Given the description of an element on the screen output the (x, y) to click on. 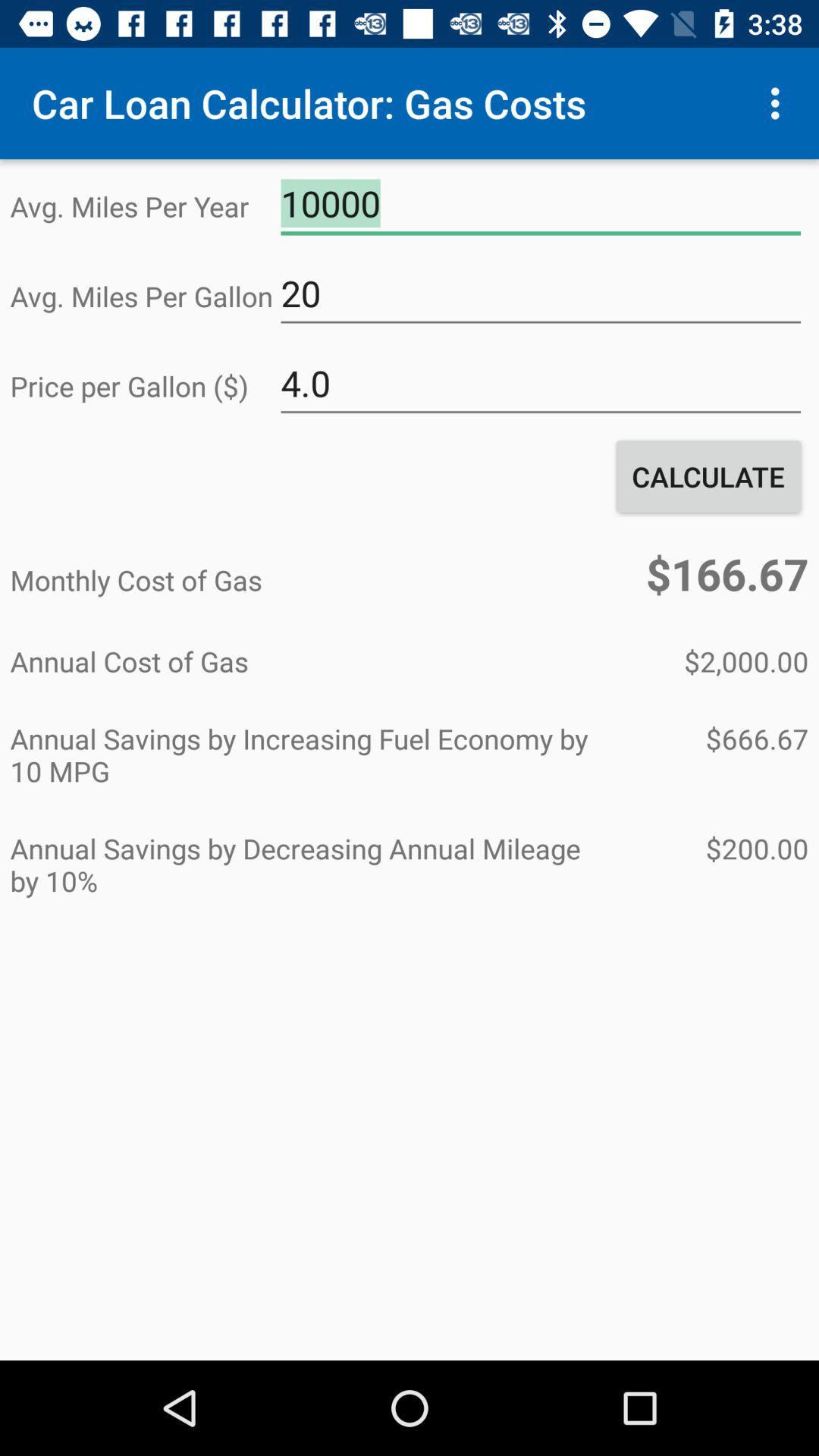
scroll until the calculate icon (707, 476)
